Given the description of an element on the screen output the (x, y) to click on. 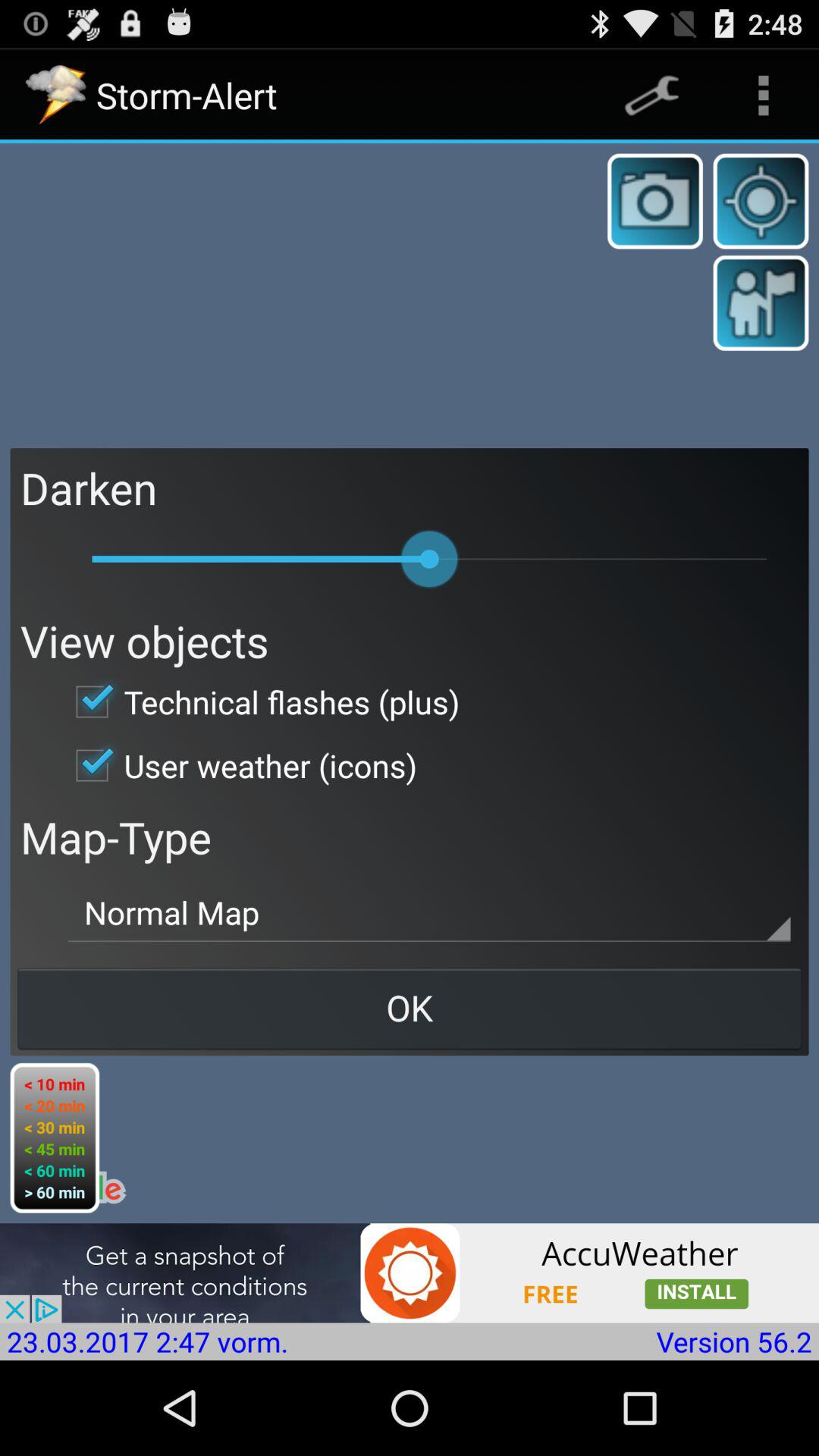
go to camara (654, 201)
